Given the description of an element on the screen output the (x, y) to click on. 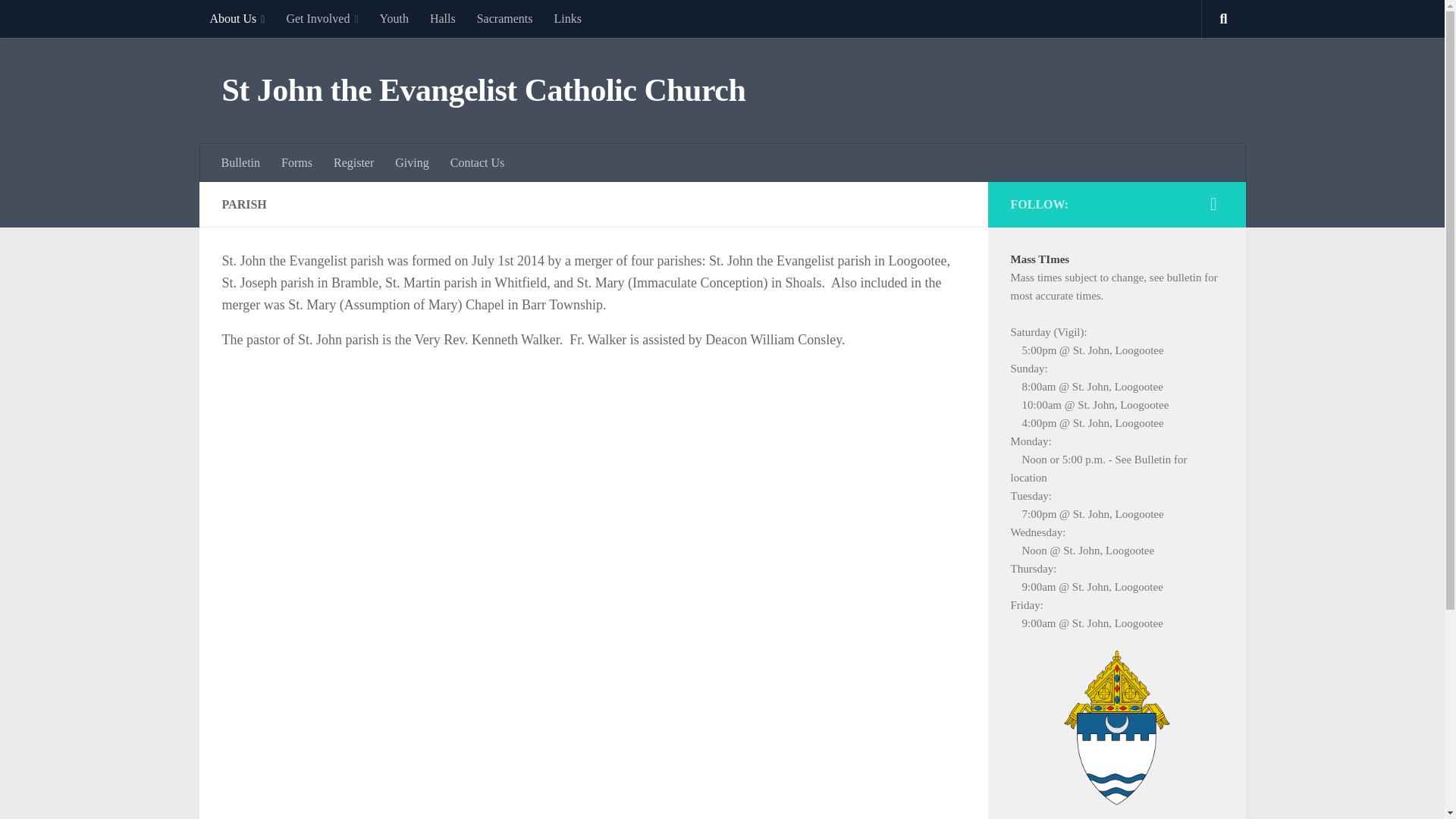
Giving (411, 162)
Forms (296, 162)
Contact Us (477, 162)
Get Involved (321, 18)
Register (353, 162)
Tuesday Mass 4 7 2020 (567, 18)
Skip to content (59, 20)
Sacraments (504, 18)
Links (567, 18)
Youth (394, 18)
